Given the description of an element on the screen output the (x, y) to click on. 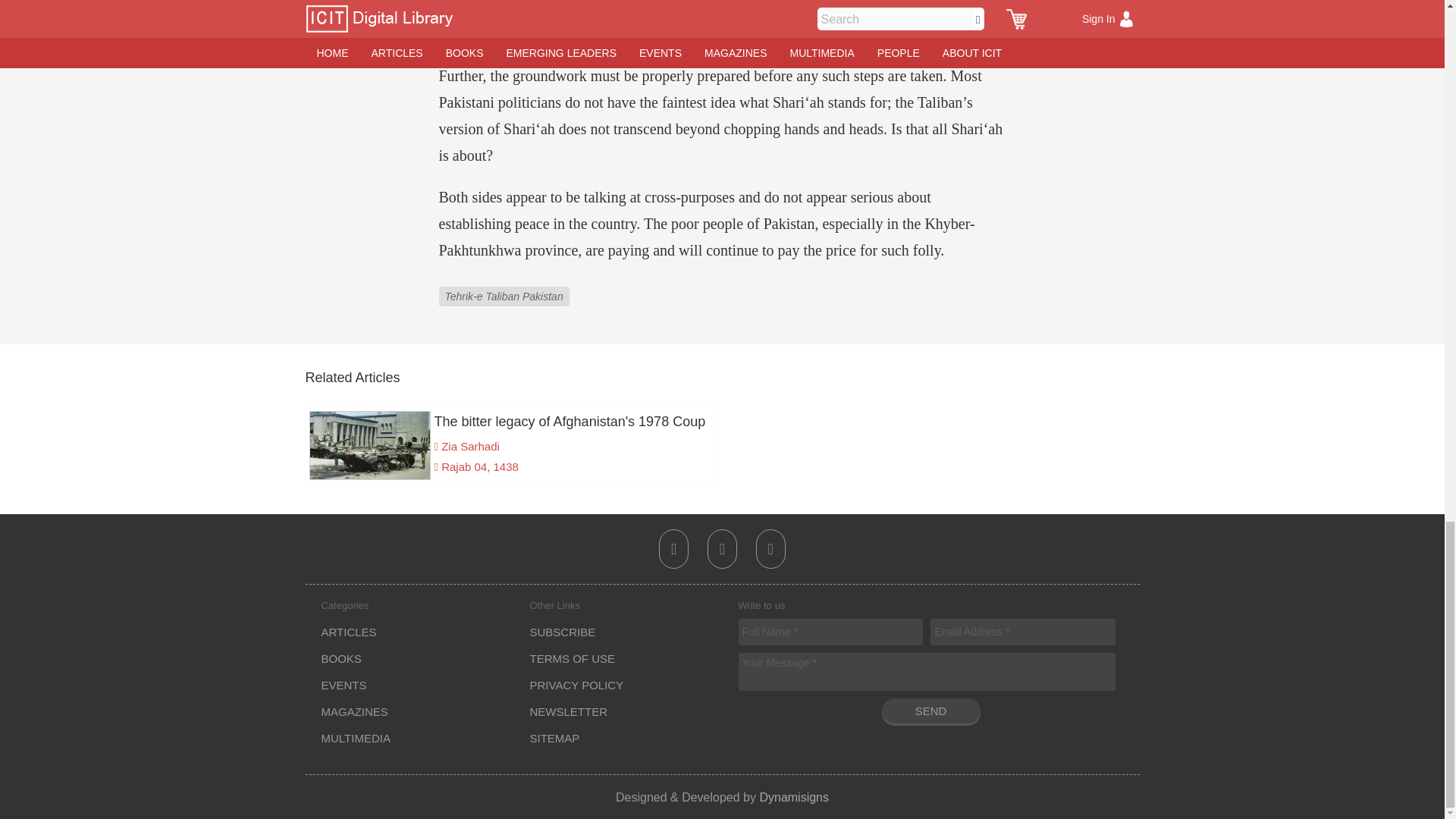
The bitter legacy of Afghanistan's 1978 Coup (509, 421)
MAGAZINES (354, 711)
Tehrik-e Taliban Pakistan (505, 285)
MULTIMEDIA (355, 738)
PRIVACY POLICY (576, 684)
SUBSCRIBE (562, 631)
ARTICLES (349, 631)
The bitter legacy of Afghanistan's 1978 Coup (509, 421)
SITEMAP (554, 738)
EVENTS (343, 684)
